Given the description of an element on the screen output the (x, y) to click on. 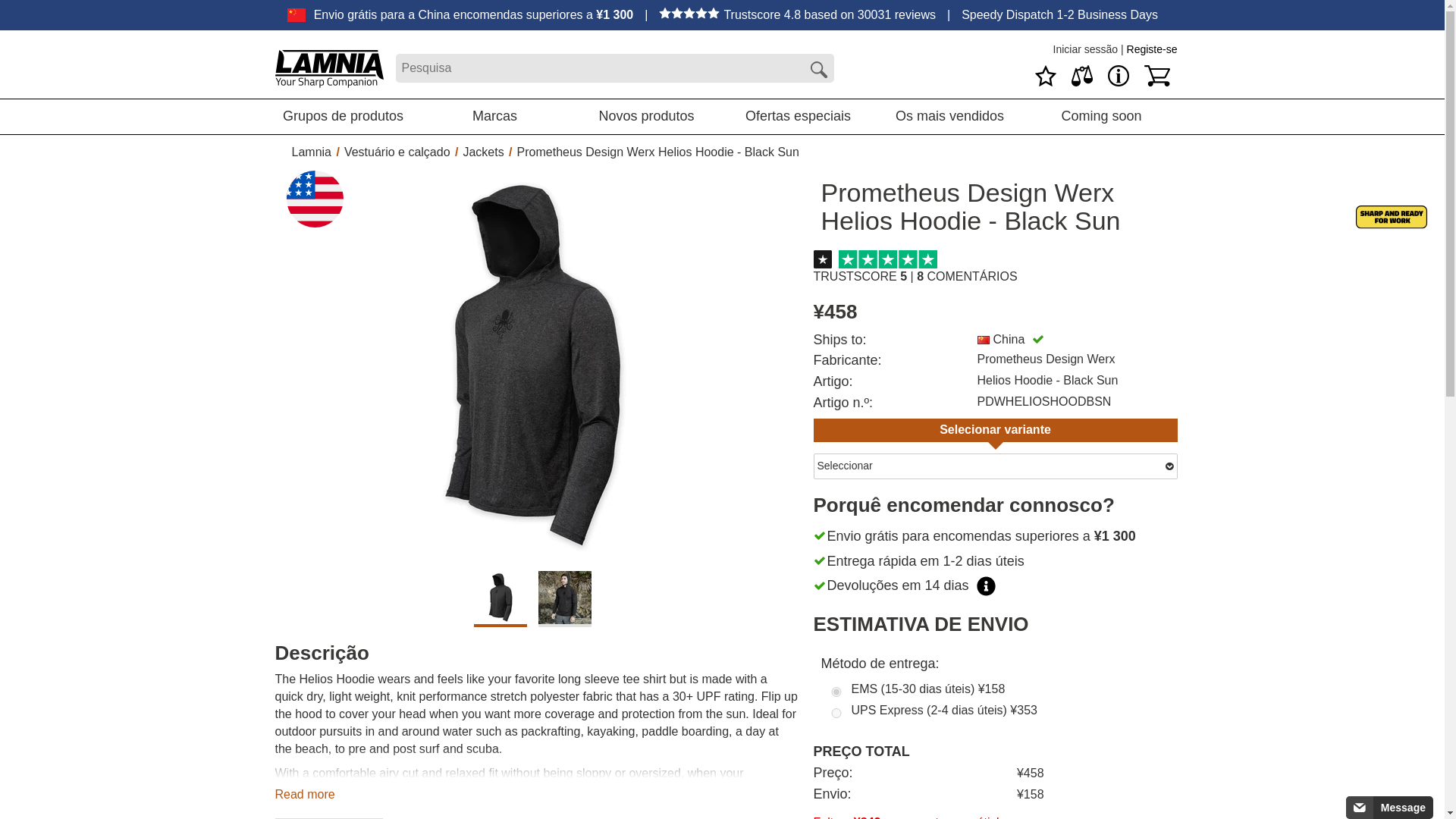
12 (835, 713)
Trustscore 4.8 based on 30031 reviews (797, 14)
Seleccionar (994, 466)
Registe-se (1151, 49)
9 (835, 691)
